Given the description of an element on the screen output the (x, y) to click on. 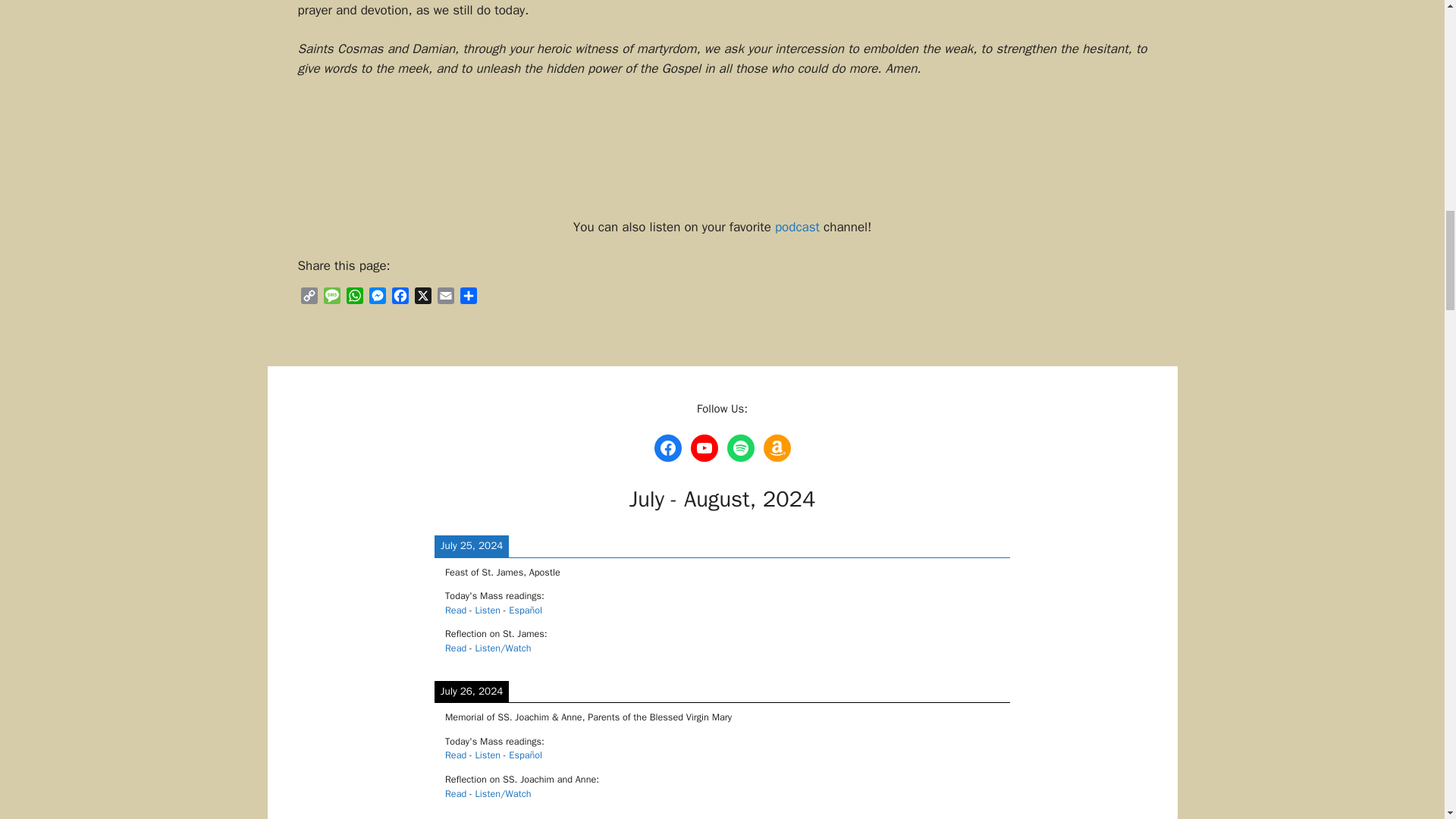
Listen (488, 610)
Message (331, 297)
Facebook (399, 297)
Read (455, 755)
Facebook (399, 297)
X (421, 297)
Amazon (776, 447)
podcast (796, 227)
Spotify (740, 447)
Email (445, 297)
Email (445, 297)
Read (455, 648)
Share (468, 297)
Messenger (376, 297)
Copy Link (308, 297)
